Given the description of an element on the screen output the (x, y) to click on. 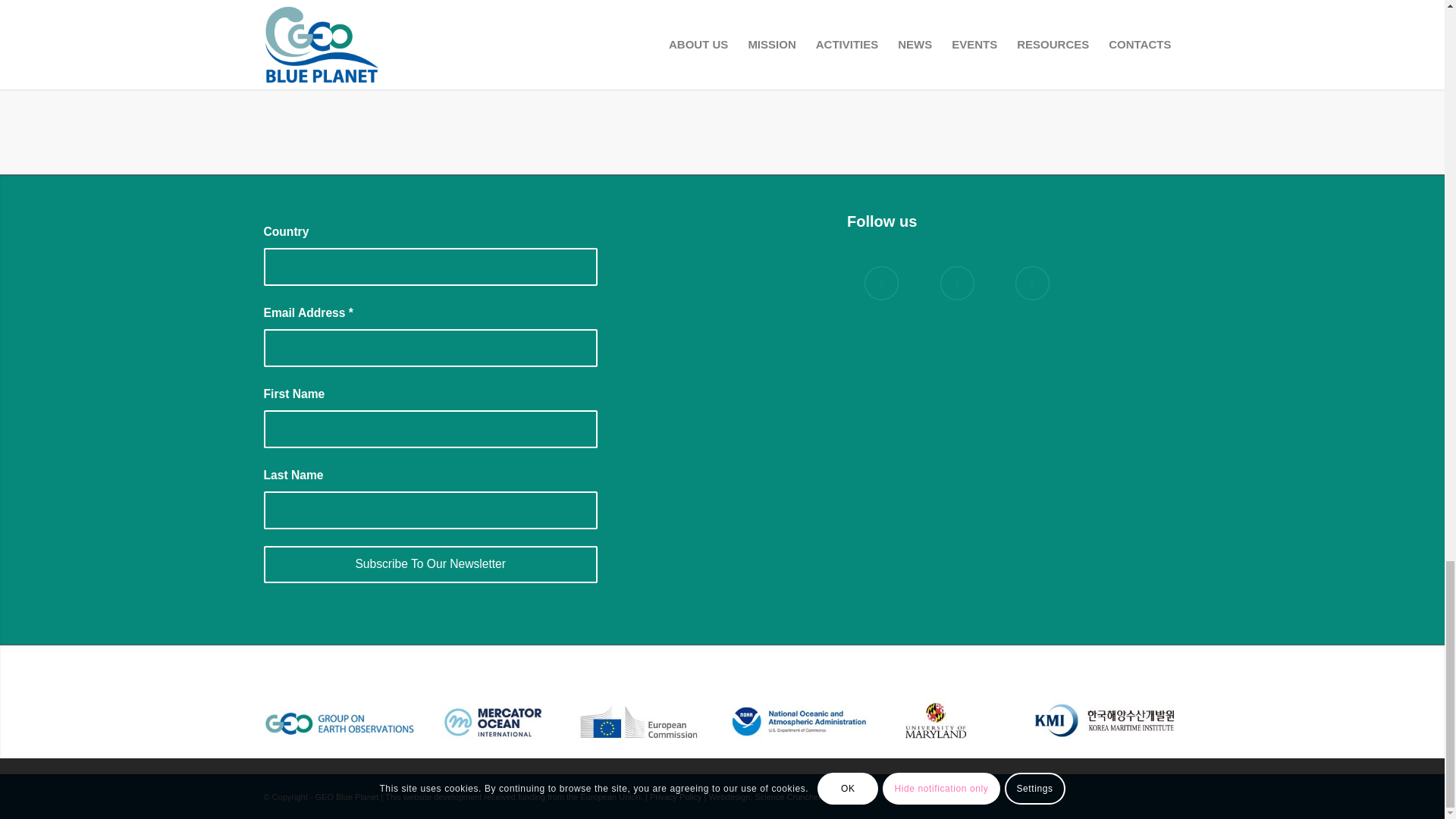
Privacy Policy (675, 796)
Subscribe To Our Newsletter (429, 564)
Subscribe To Our Newsletter (429, 564)
Science Crunchers (789, 796)
